Given the description of an element on the screen output the (x, y) to click on. 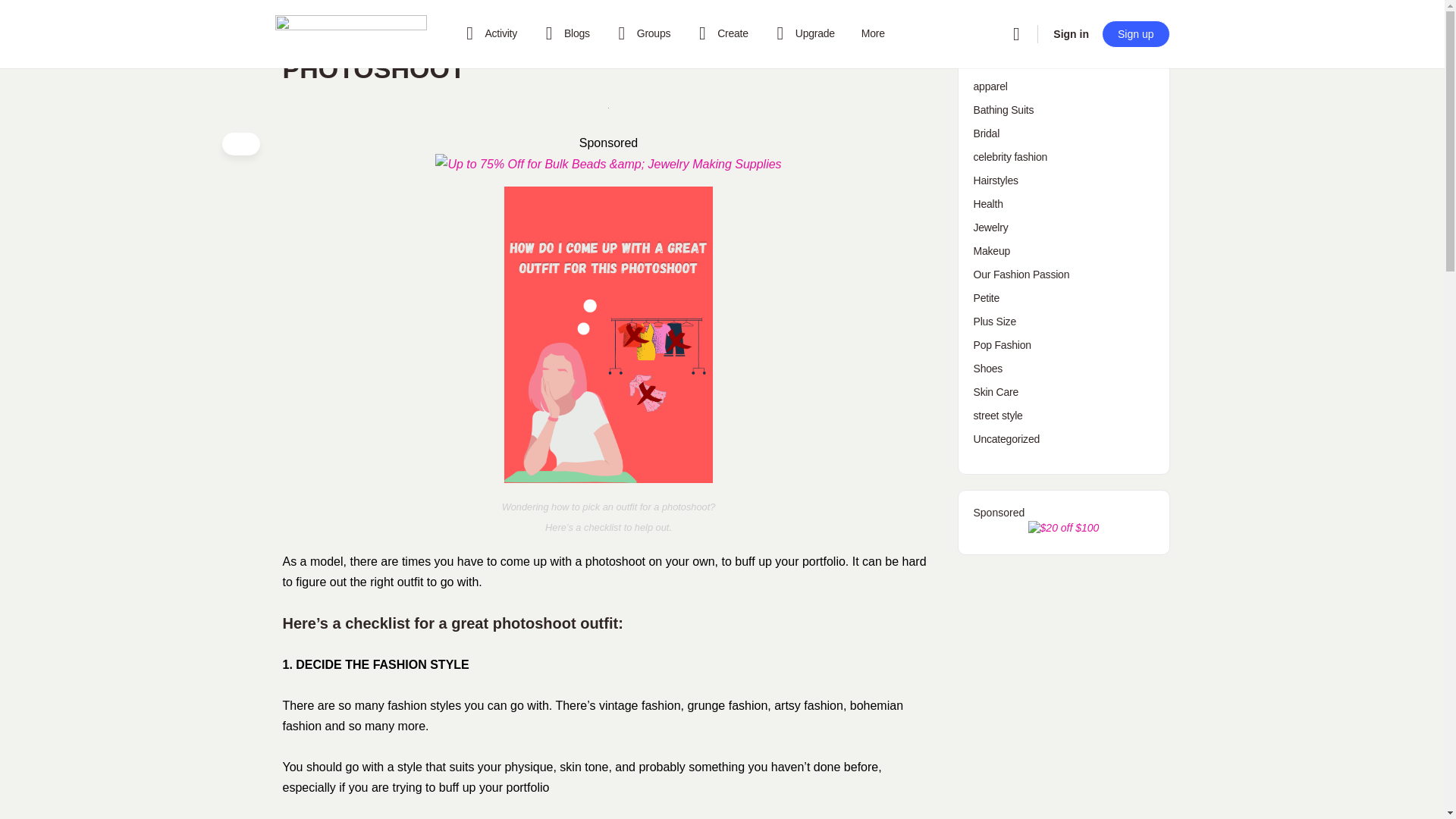
Sign up (1135, 33)
Activity (488, 33)
Blogs (564, 33)
Create (720, 33)
Sign in (1070, 33)
Upgrade (802, 33)
Groups (641, 33)
